Given the description of an element on the screen output the (x, y) to click on. 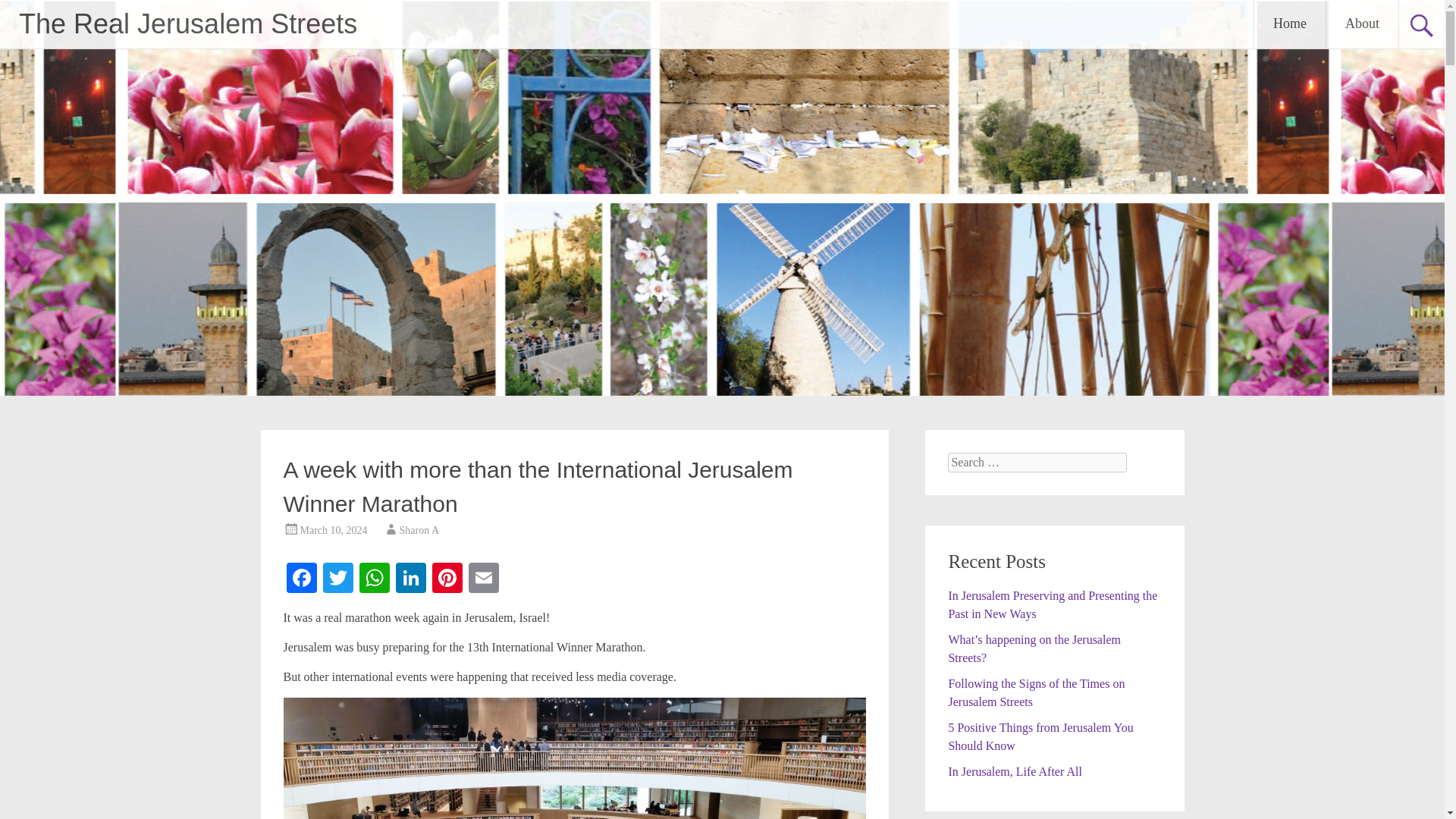
Facebook (301, 579)
Sharon A (418, 530)
LinkedIn (411, 579)
LinkedIn (411, 579)
About (1361, 23)
Twitter (338, 579)
WhatsApp (374, 579)
In Jerusalem Preserving and Presenting the Past in New Ways (1052, 603)
Pinterest (447, 579)
Search (26, 12)
Home (1288, 23)
Email (483, 579)
Twitter (338, 579)
The Real Jerusalem Streets (187, 23)
Pinterest (447, 579)
